Given the description of an element on the screen output the (x, y) to click on. 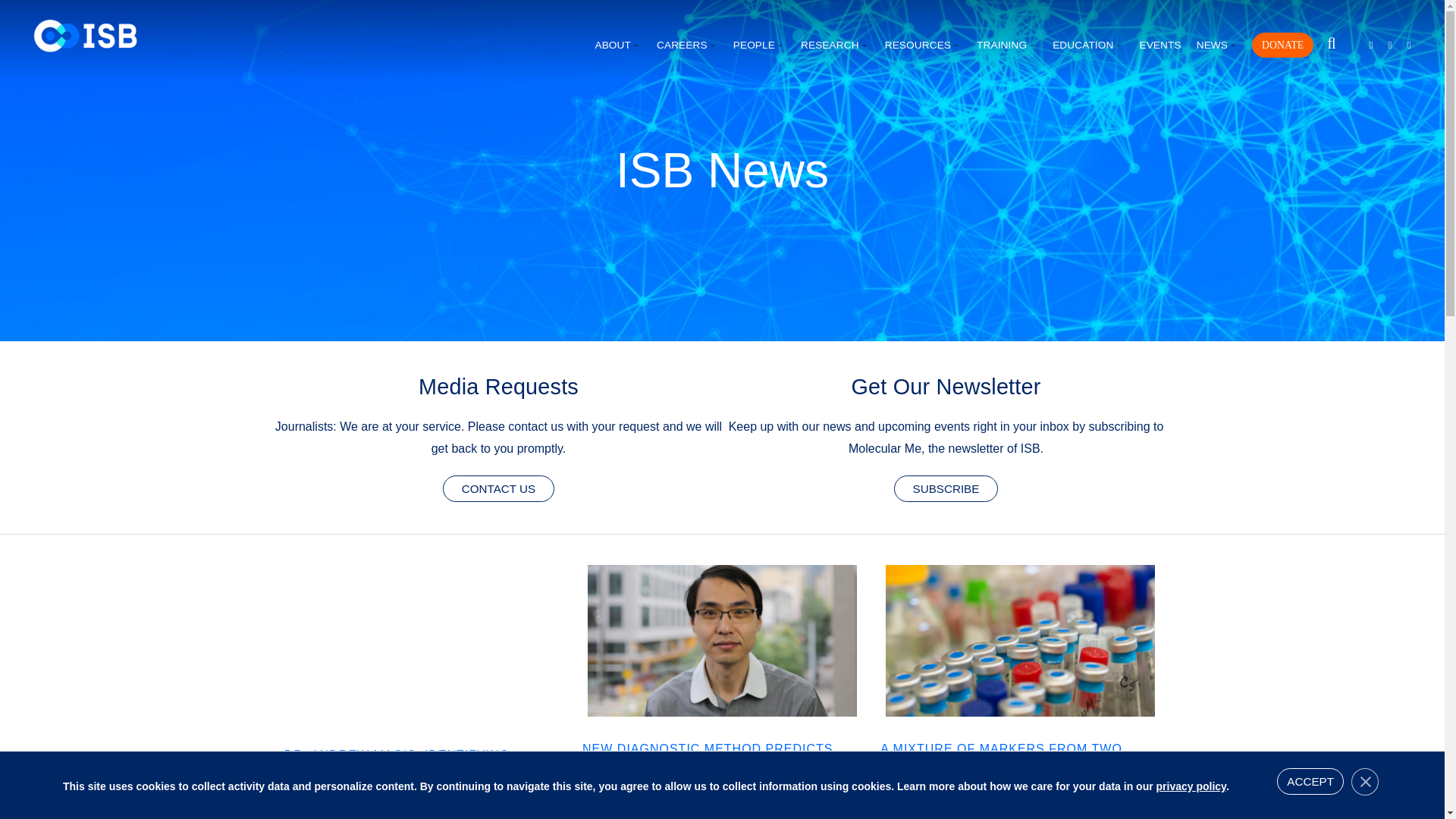
CAREERS (686, 45)
RESEARCH (834, 45)
PEOPLE (759, 45)
YouTube video player (423, 643)
ABOUT (618, 45)
